Given the description of an element on the screen output the (x, y) to click on. 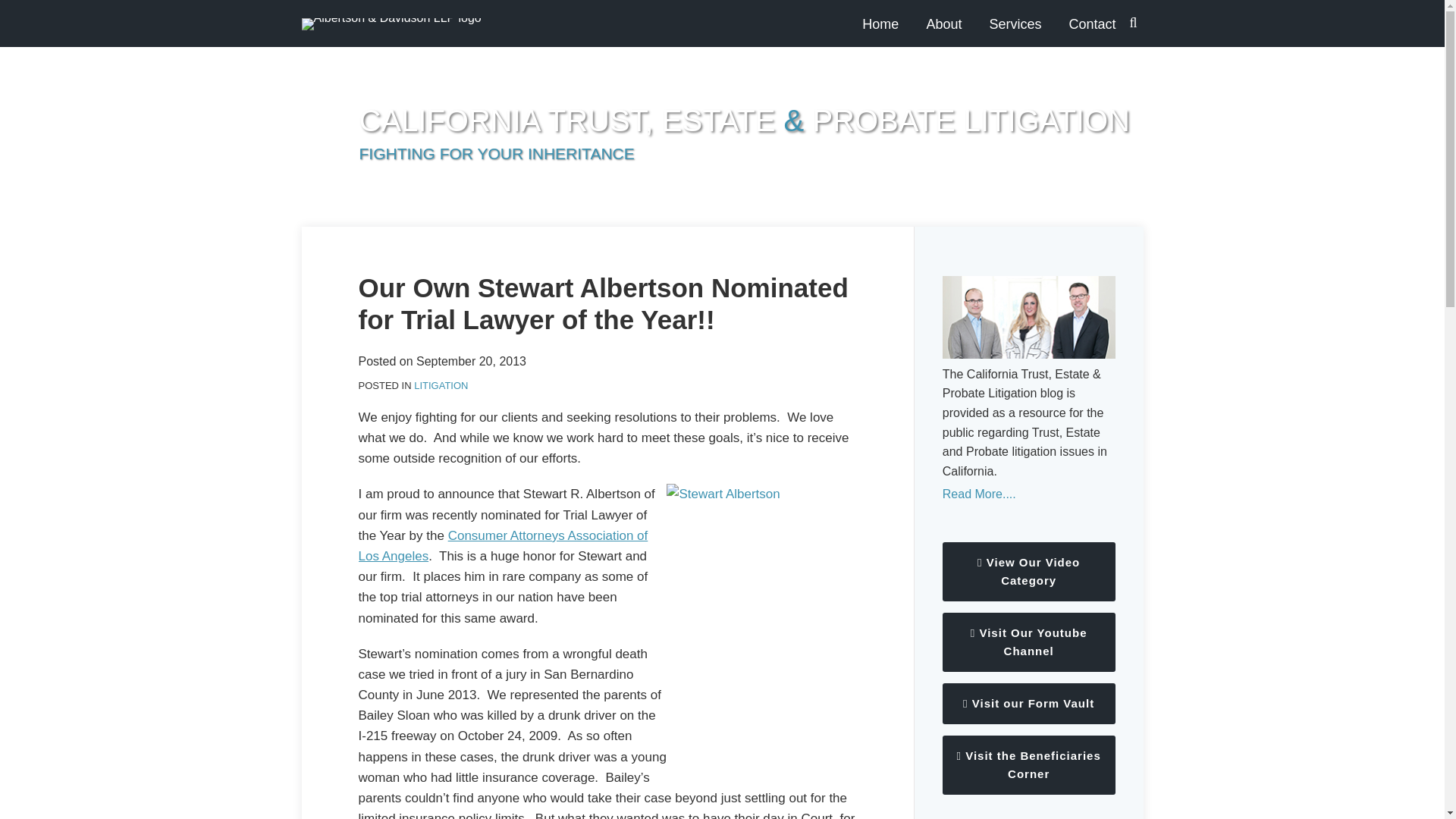
Consumer Attorneys Association of Los Angeles (502, 545)
Home (879, 24)
View Our Video Category (1028, 571)
Services (1014, 24)
Visit our Form Vault (1028, 703)
Visit Our Youtube Channel (1028, 641)
Contact (1091, 24)
About (943, 24)
Read More.... (1028, 494)
Visit the Beneficiaries Corner (1028, 764)
LITIGATION (440, 385)
